Given the description of an element on the screen output the (x, y) to click on. 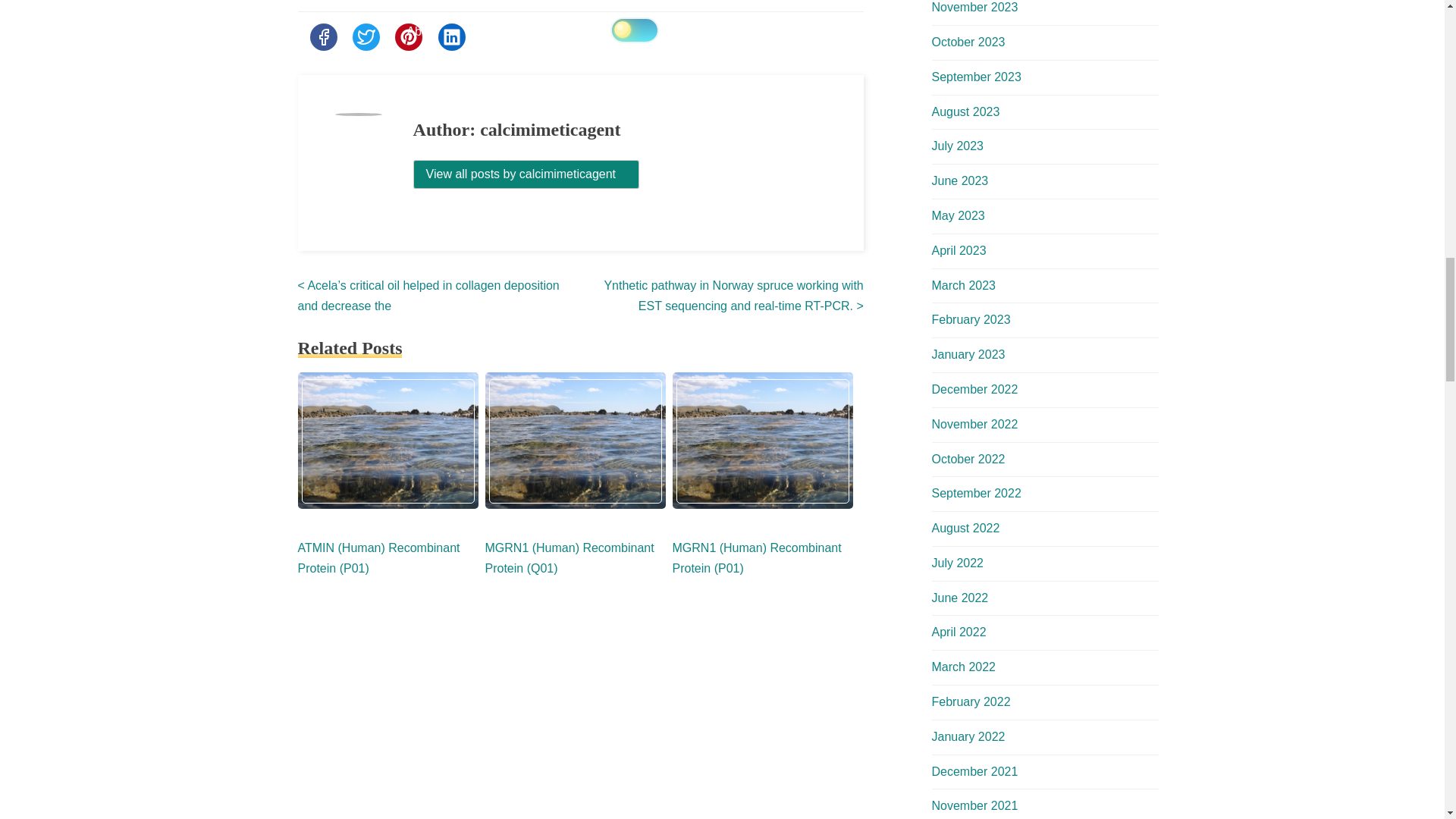
Share this post on Linkedin (451, 36)
Share this post on Pinterest (408, 36)
Share this post on Twitter (366, 36)
View all posts by calcimimeticagent (526, 173)
View all posts by calcimimeticagent (526, 173)
Share this post on Facebook (322, 36)
